Given the description of an element on the screen output the (x, y) to click on. 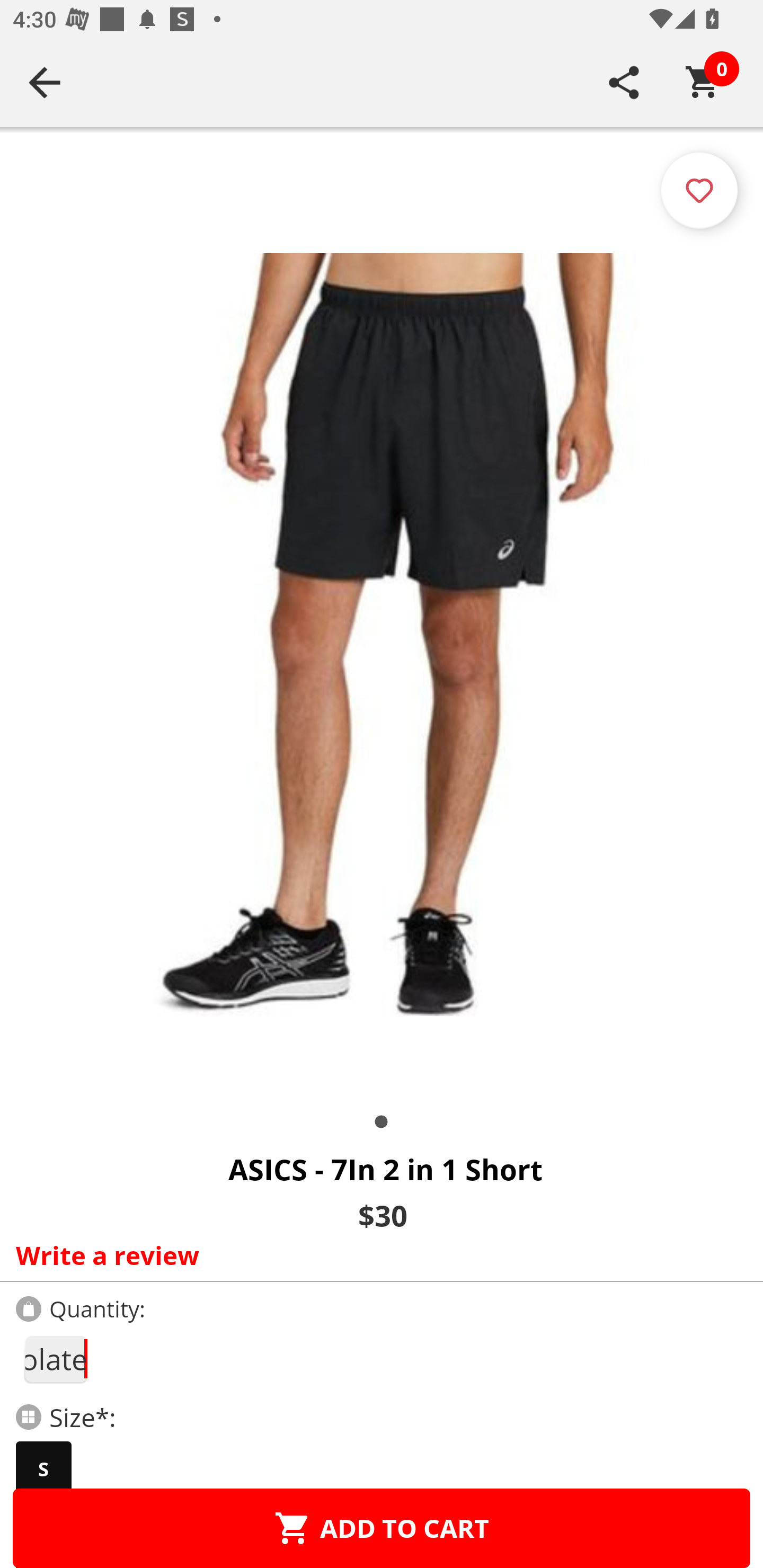
Navigate up (44, 82)
SHARE (623, 82)
Cart (703, 81)
Write a review (377, 1255)
1chocolate (55, 1358)
S (43, 1468)
ADD TO CART (381, 1528)
